Given the description of an element on the screen output the (x, y) to click on. 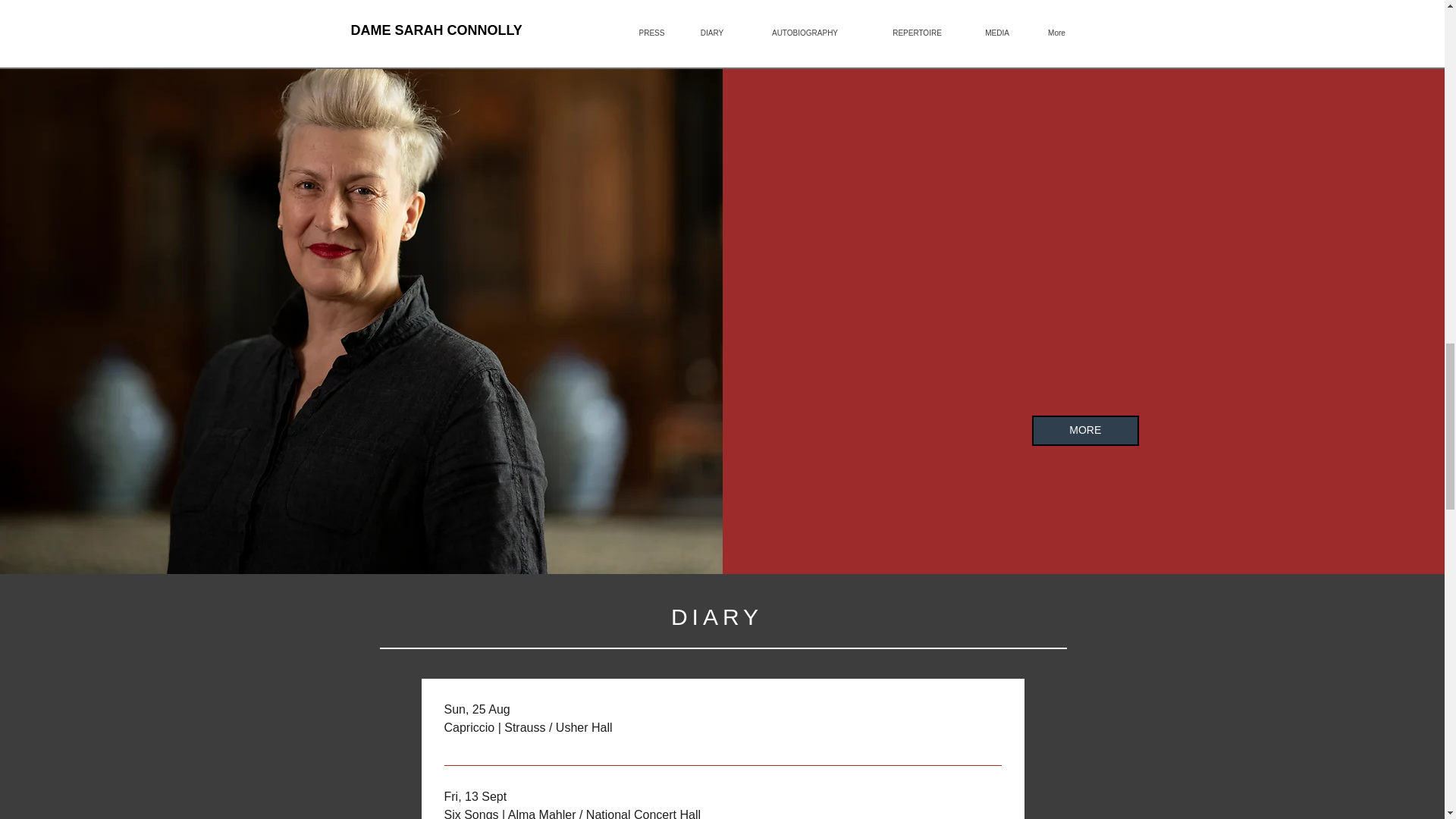
MORE (1085, 430)
Learn more (958, 721)
Learn more (958, 806)
